Given the description of an element on the screen output the (x, y) to click on. 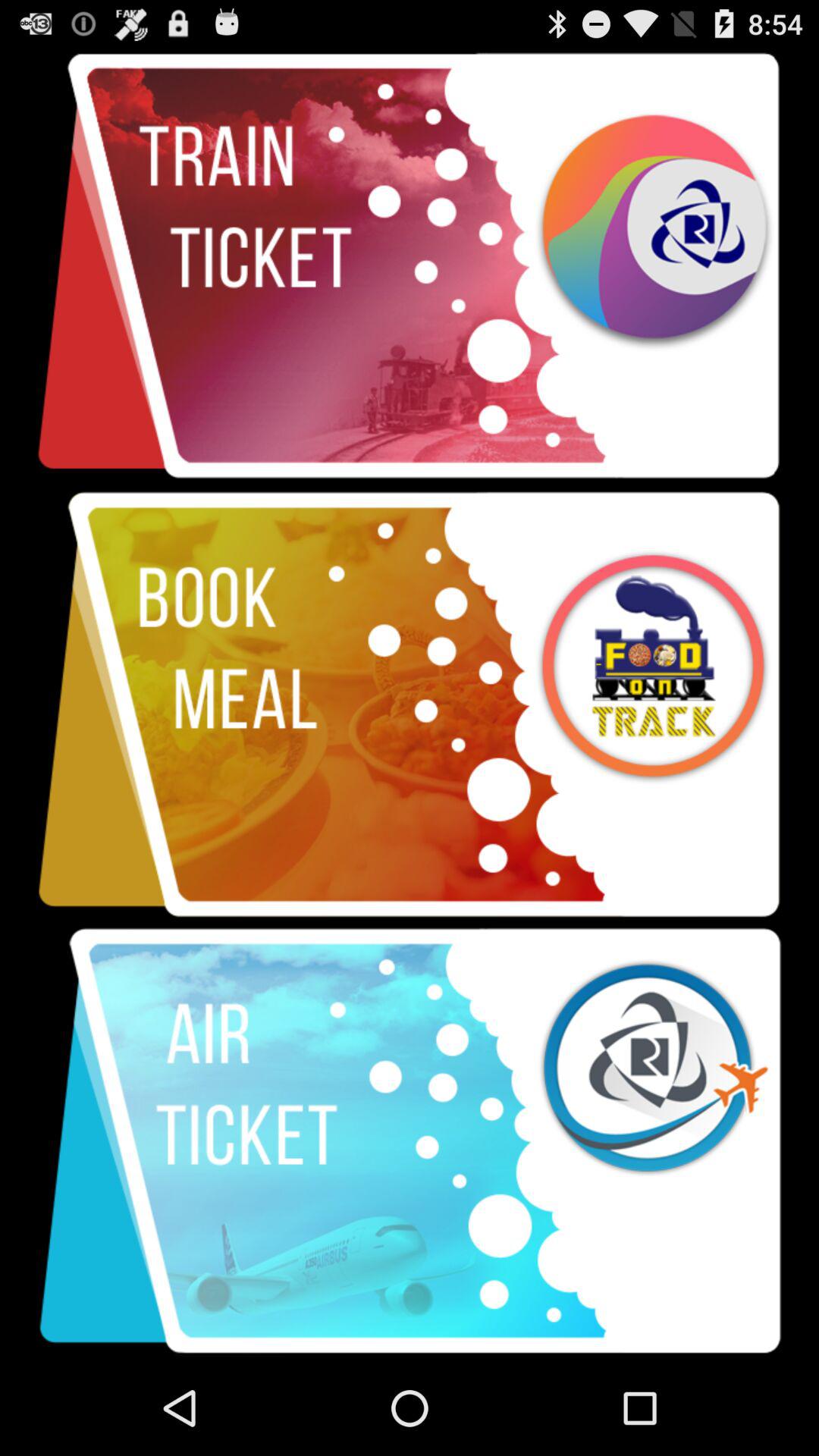
selects airline ticket option (409, 1141)
